Given the description of an element on the screen output the (x, y) to click on. 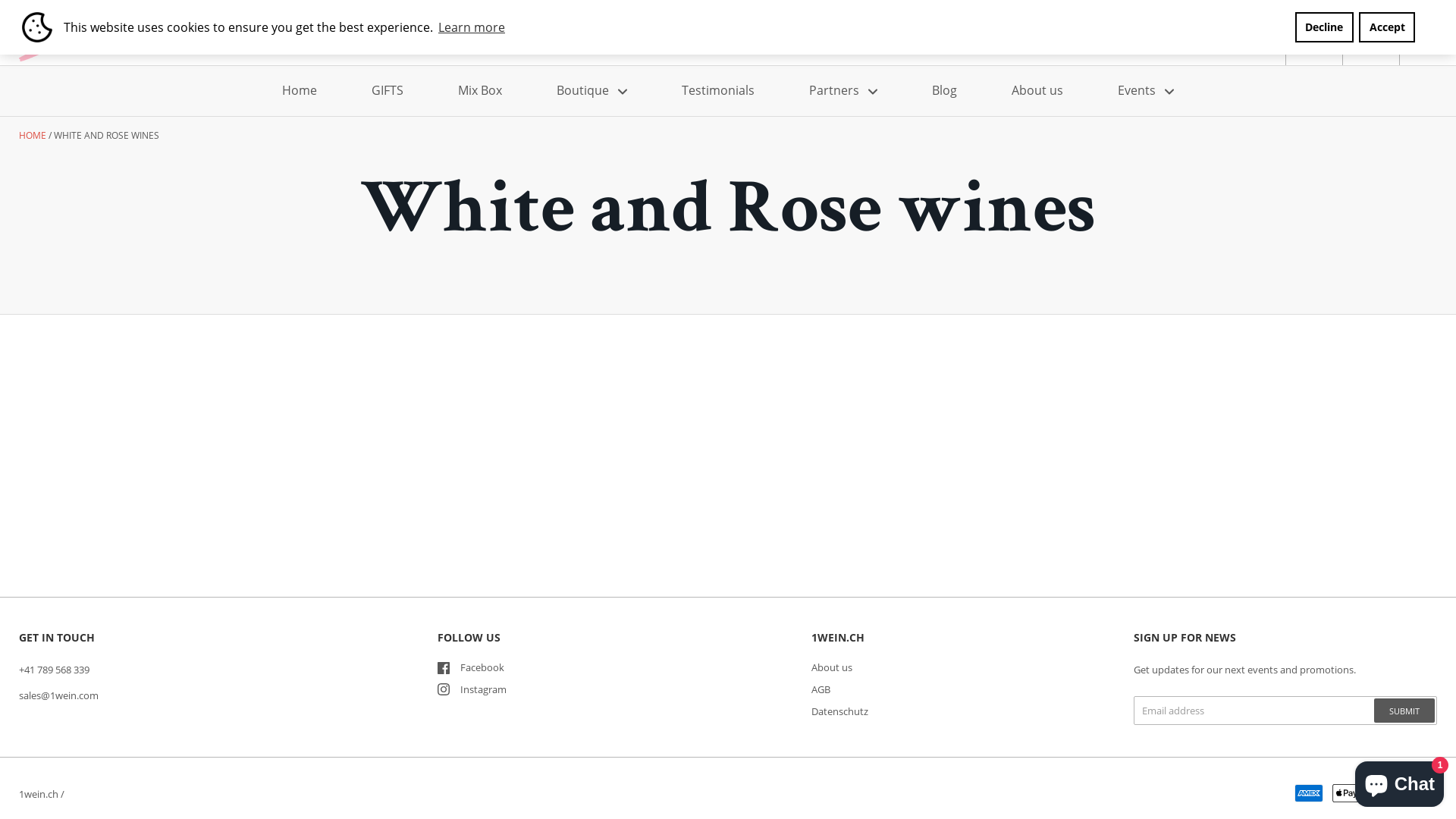
Partners Element type: text (843, 90)
Events Element type: text (1145, 90)
Boutique Element type: text (591, 90)
sales@1wein.com Element type: text (58, 695)
GIFTS Element type: text (387, 90)
HOME Element type: text (32, 134)
Mix Box Element type: text (479, 90)
Accept Element type: text (1386, 27)
Instagram Instagram Element type: text (471, 689)
SUBMIT Element type: text (1404, 710)
Shopify online store chat Element type: hover (1399, 780)
Datenschutz Element type: text (839, 711)
1wein.ch Element type: text (38, 793)
Blog Element type: text (944, 90)
Facebook Facebook Element type: text (470, 667)
Learn more Element type: text (440, 26)
About us Element type: text (1036, 90)
Home Element type: text (299, 90)
About us Element type: text (831, 667)
Testimonials Element type: text (717, 90)
Decline Element type: text (1324, 27)
AGB Element type: text (820, 689)
